Given the description of an element on the screen output the (x, y) to click on. 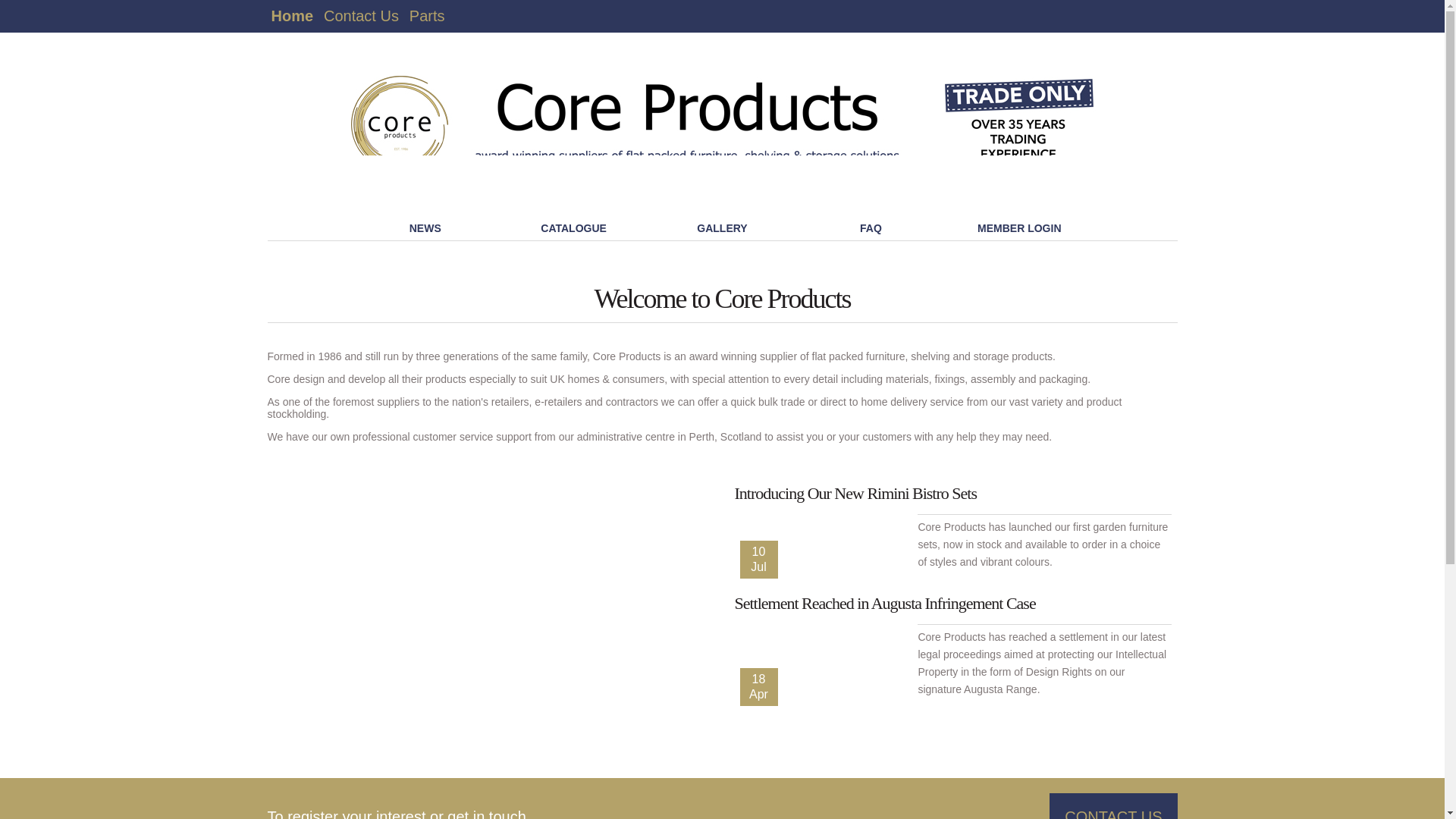
FAQ (870, 228)
Parts (427, 16)
CONTACT US (1112, 806)
MEMBER LOGIN (1019, 228)
YouTube video player (478, 603)
GALLERY (721, 228)
Home (291, 16)
CATALOGUE (573, 228)
Contact Us (361, 16)
NEWS (424, 228)
